Given the description of an element on the screen output the (x, y) to click on. 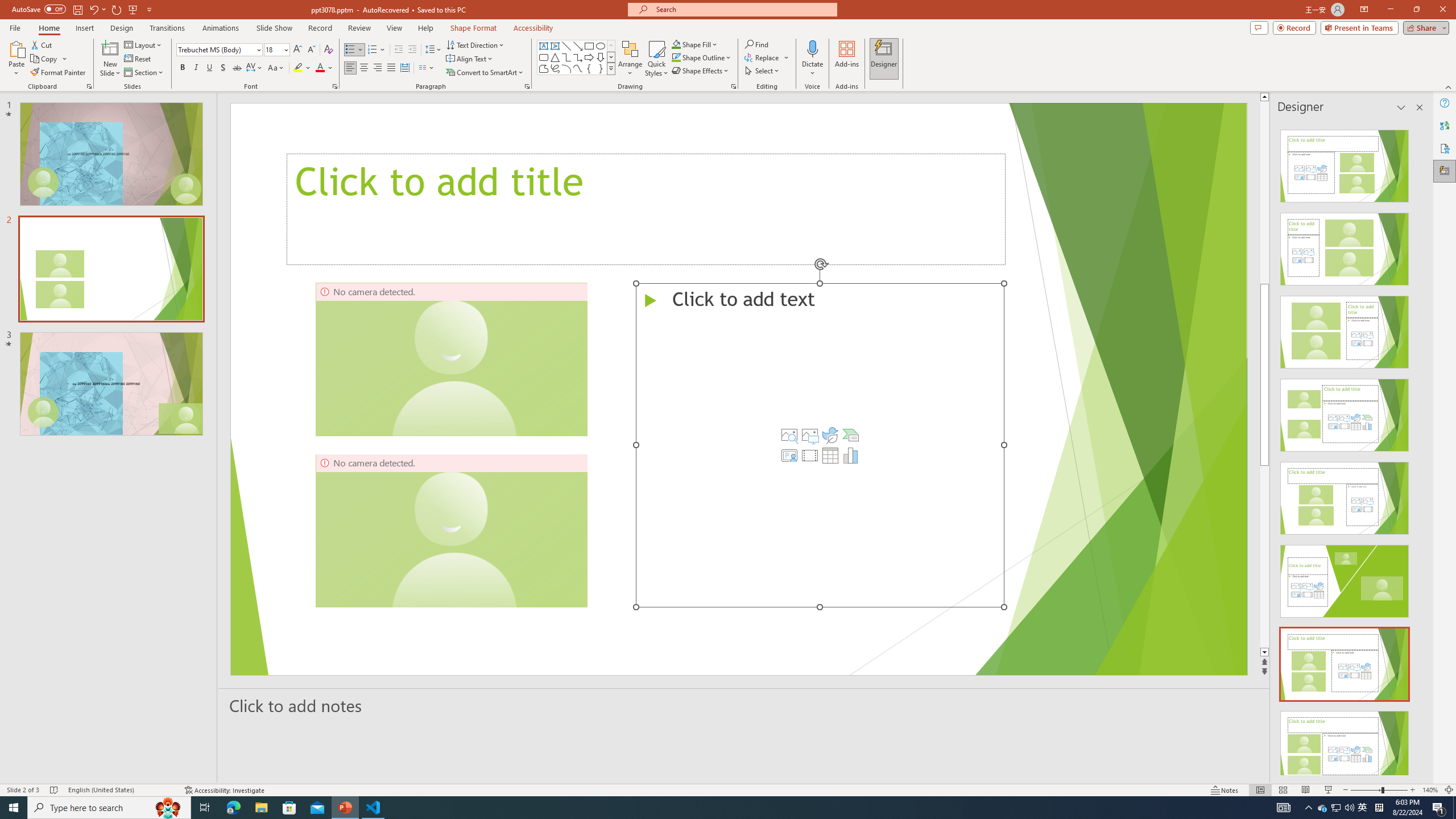
Content Placeholder (819, 445)
